Given the description of an element on the screen output the (x, y) to click on. 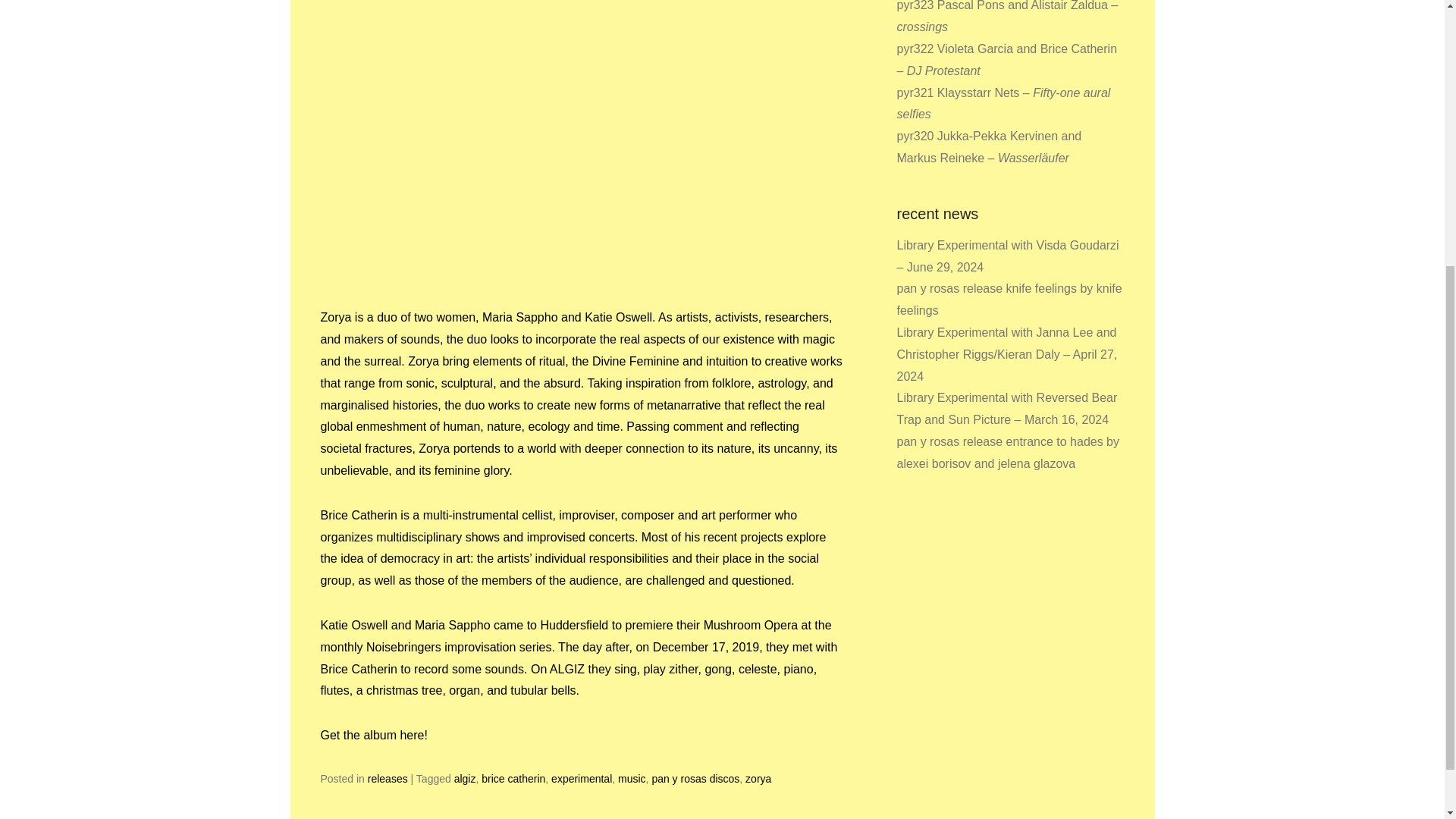
pan y rosas release knife feelings by knife feelings (1008, 298)
experimental (581, 778)
pan y rosas discos (694, 778)
releases (387, 778)
brice catherin (512, 778)
music (631, 778)
algiz (465, 778)
zorya (758, 778)
Get the album here! (373, 735)
